Given the description of an element on the screen output the (x, y) to click on. 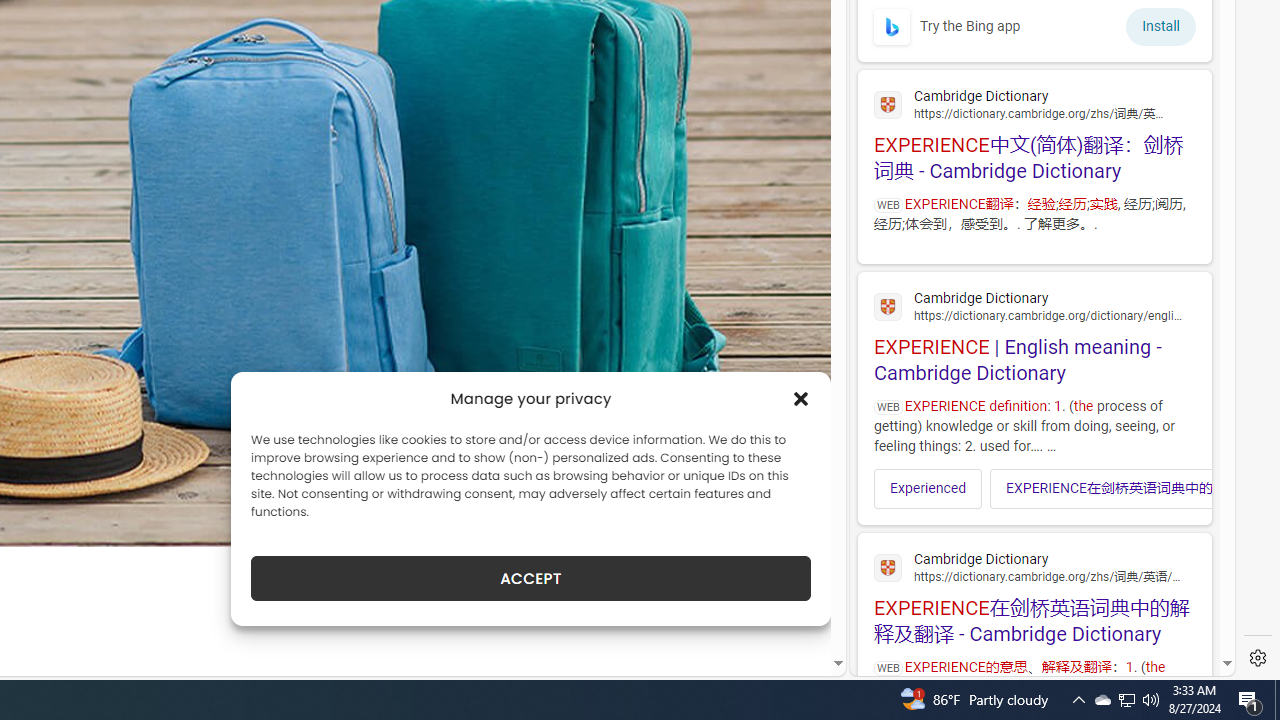
Experienced (927, 488)
EXPERIENCE | English meaning - Cambridge Dictionary (1034, 334)
Experienced (928, 488)
ACCEPT (530, 578)
Cambridge Dictionary (1034, 565)
Class: cmplz-close (801, 398)
